Given the description of an element on the screen output the (x, y) to click on. 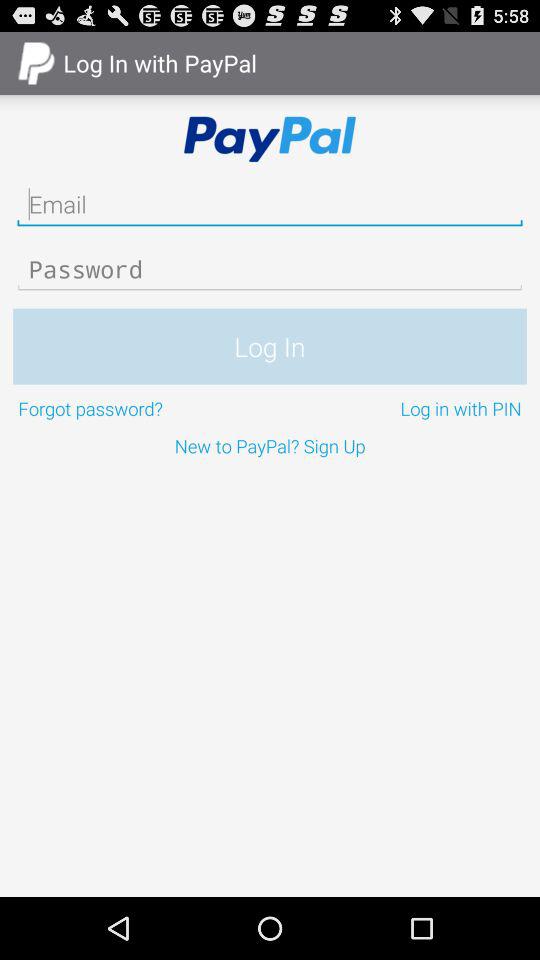
launch icon to the left of the log in with (141, 408)
